Given the description of an element on the screen output the (x, y) to click on. 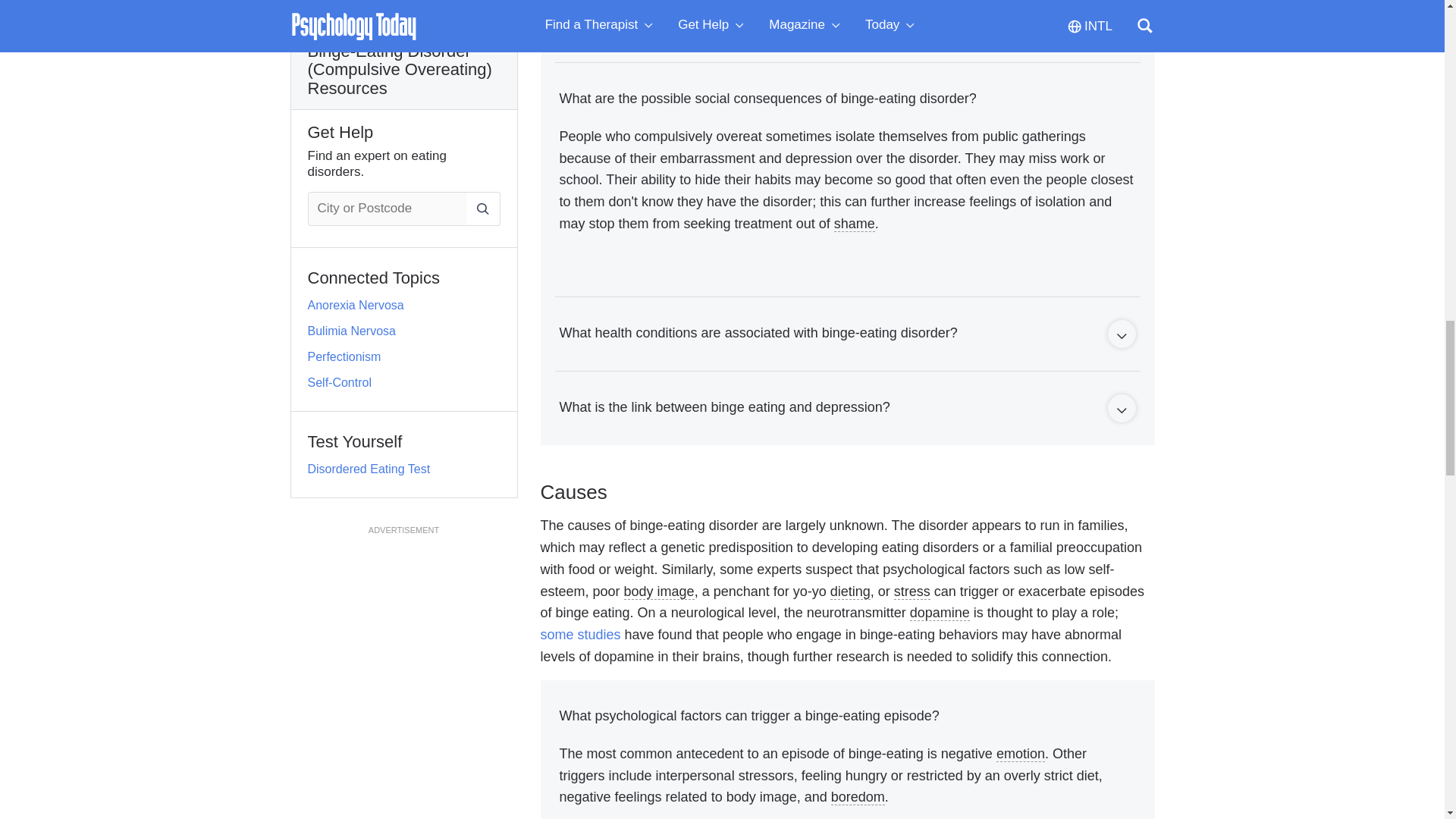
Created with Sketch. (1120, 336)
Created with Sketch. (1120, 410)
